Given the description of an element on the screen output the (x, y) to click on. 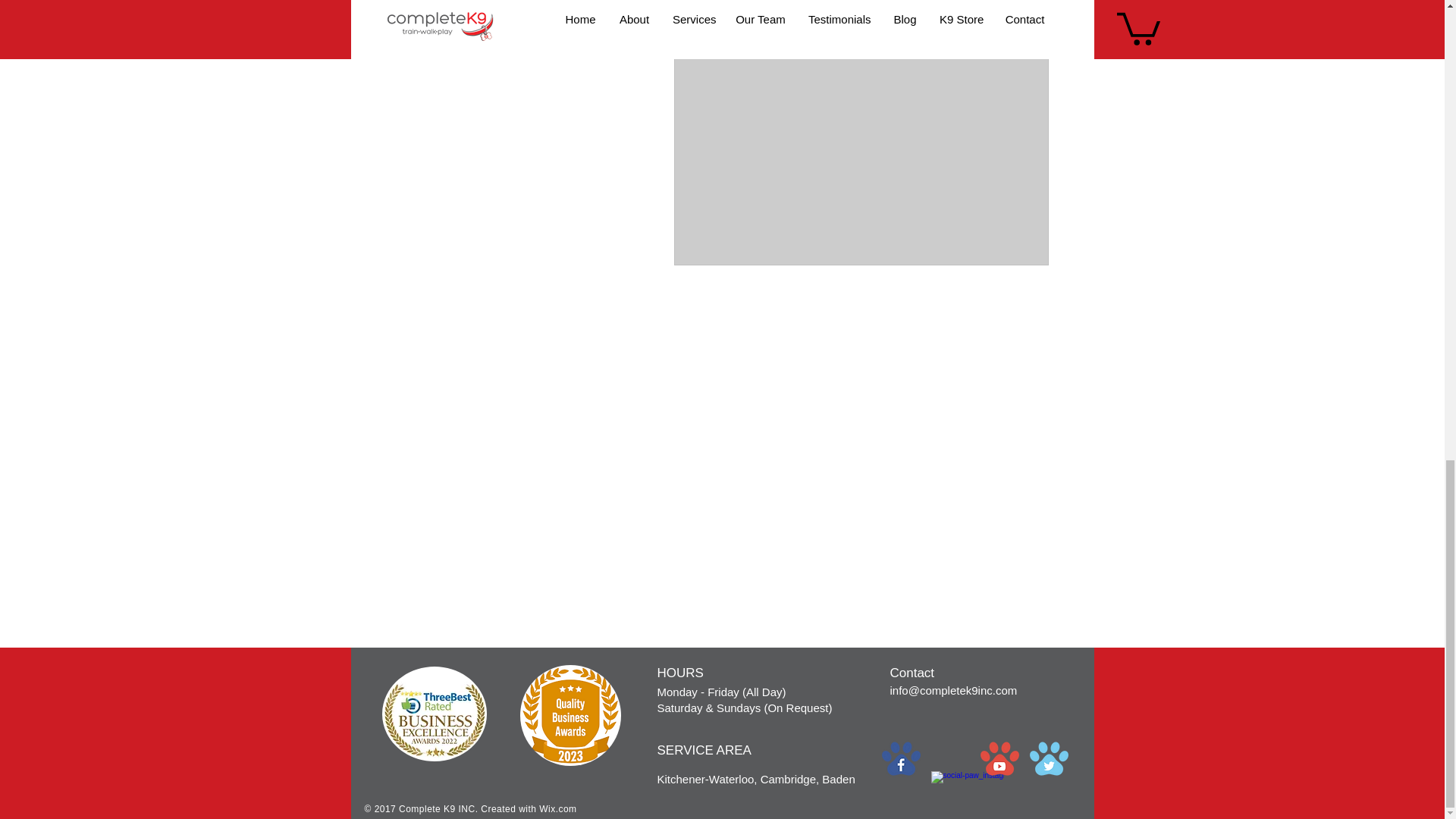
TBRGBadgewhitebackground2022.png (433, 713)
TBRGBadgewhitebackground2022.png (570, 715)
Wix.com (557, 808)
